Given the description of an element on the screen output the (x, y) to click on. 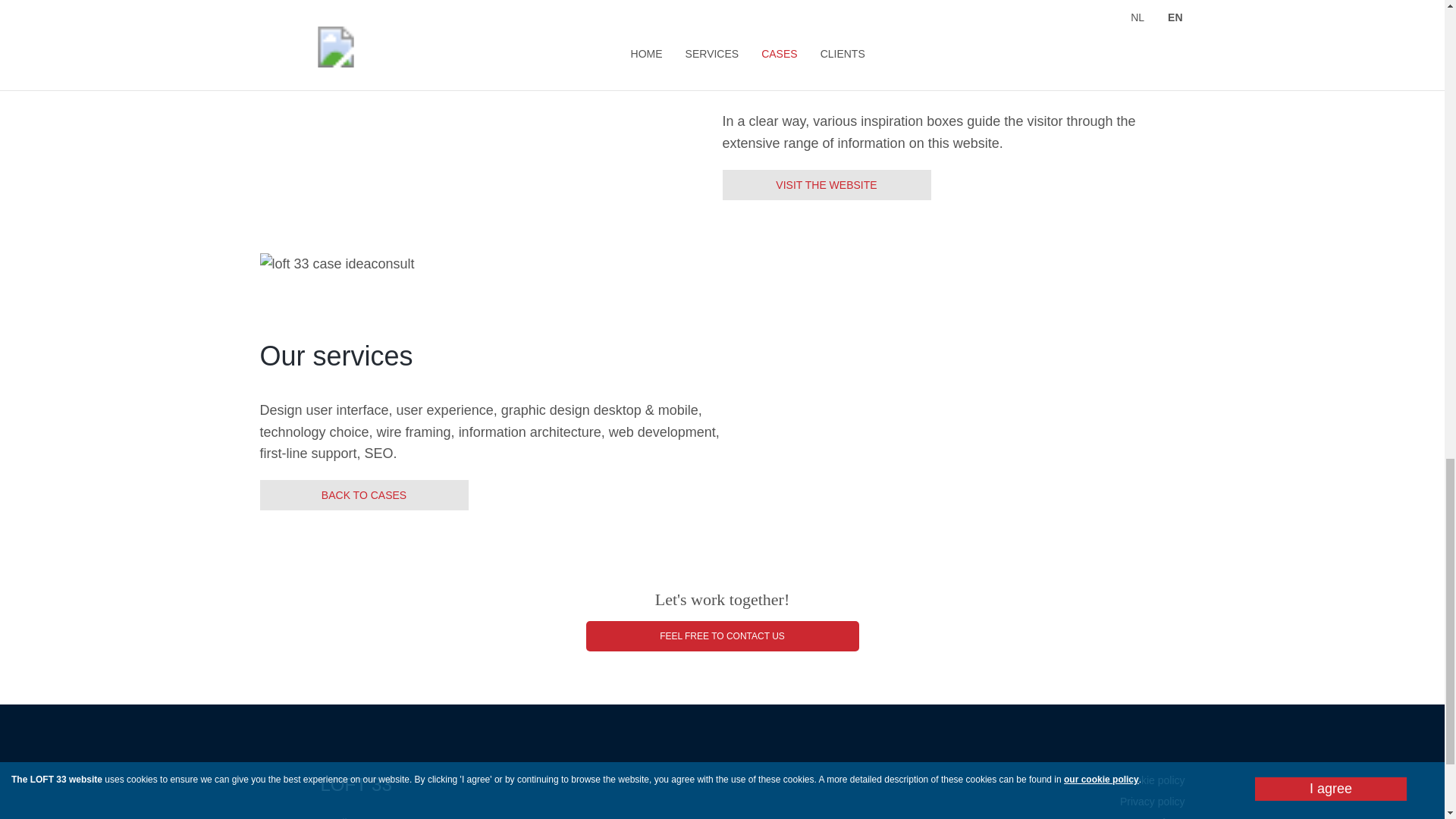
Privacy policy (1152, 801)
Cookie policy (1153, 779)
VISIT THE WEBSITE (826, 184)
BACK TO CASES (363, 494)
FEEL FREE TO CONTACT US (722, 635)
